Given the description of an element on the screen output the (x, y) to click on. 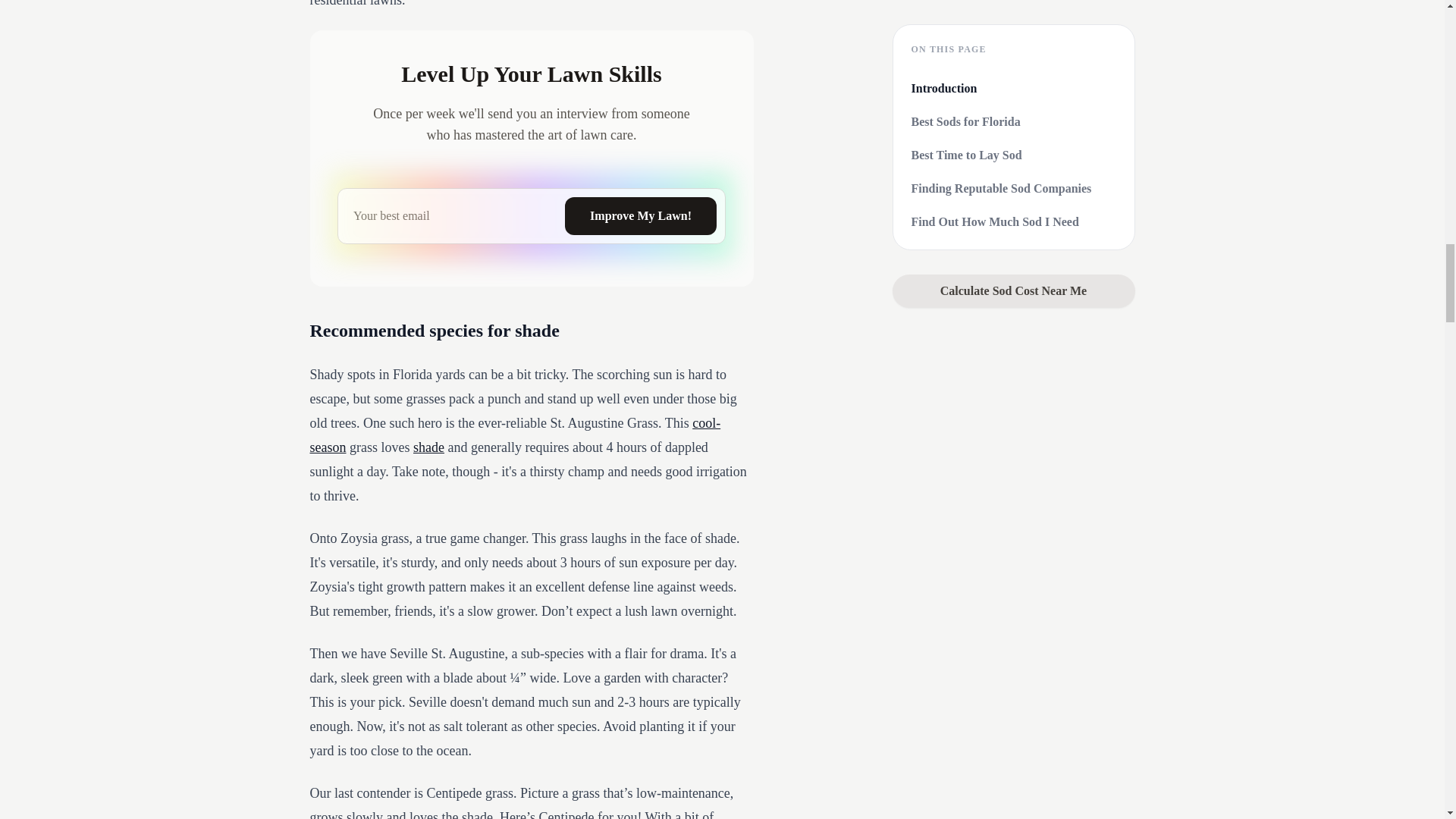
cool-season (514, 435)
Improve My Lawn! (640, 216)
shade (428, 447)
